Given the description of an element on the screen output the (x, y) to click on. 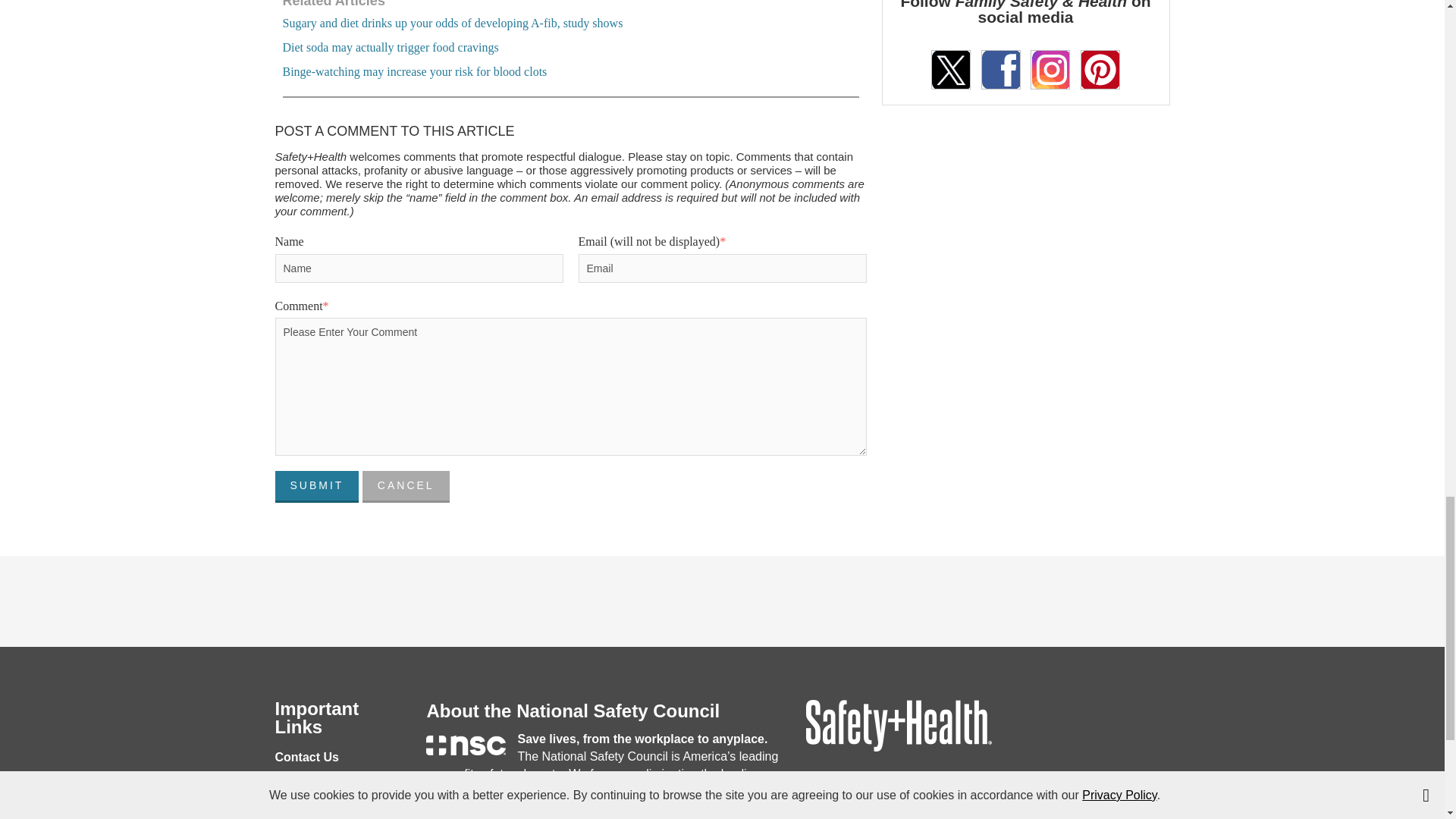
Cancel (405, 486)
Submit (316, 486)
Binge-watching may increase your risk for blood clots (414, 71)
3rd party ad content (721, 589)
Diet soda may actually trigger food cravings (389, 47)
Name (418, 267)
Email (722, 267)
